Given the description of an element on the screen output the (x, y) to click on. 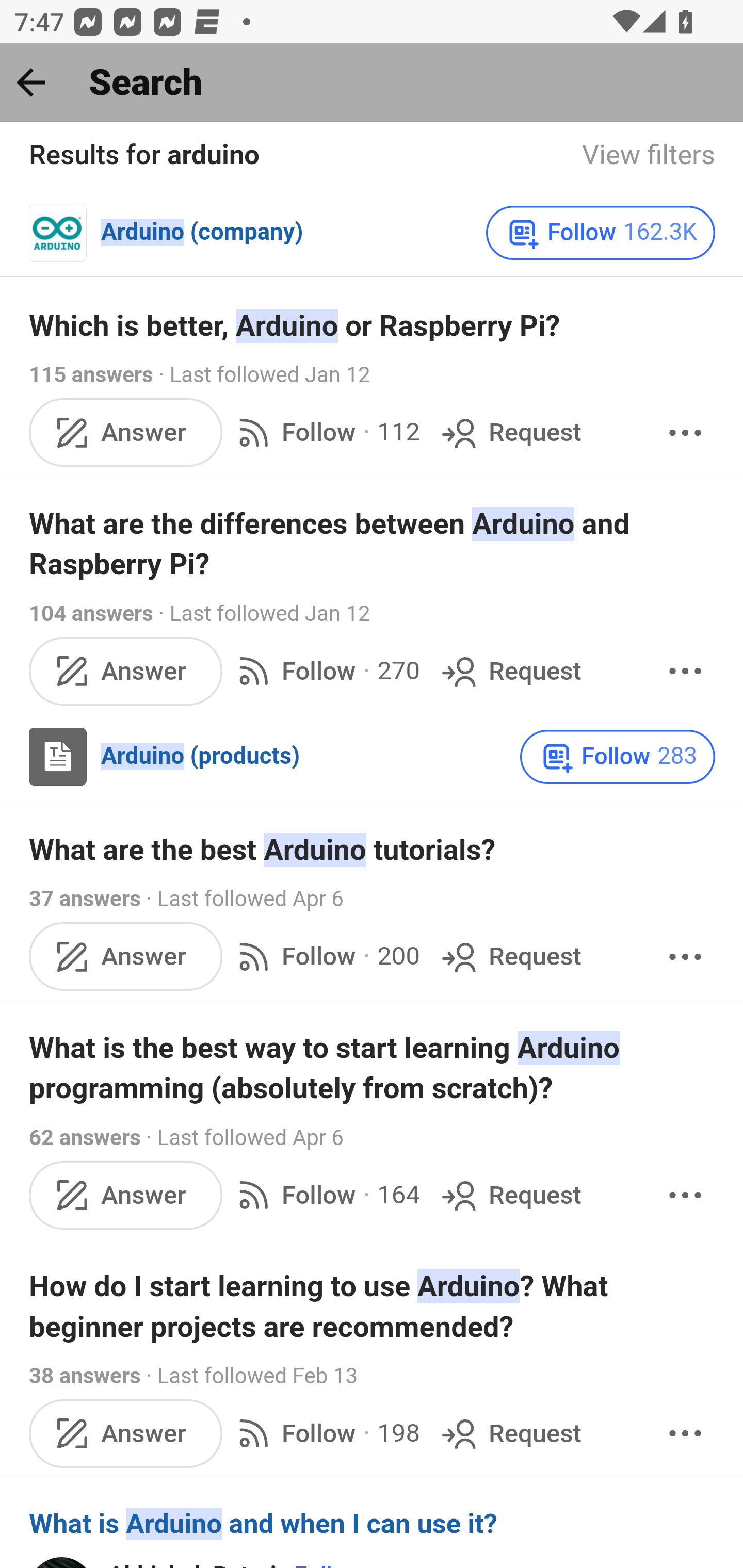
Back Search (371, 82)
Back (30, 82)
View filters (648, 155)
Follow 162.3K (599, 232)
Which is better, Arduino or Raspberry Pi? (372, 325)
115 answers 115  answers (90, 375)
Answer (125, 433)
Follow · 112 (324, 433)
Request (509, 433)
More (684, 433)
104 answers 104  answers (90, 613)
Answer (125, 671)
Follow · 270 (324, 671)
Request (509, 671)
More (684, 671)
Follow 283 (618, 755)
What are the best Arduino tutorials? (372, 849)
37 answers 37  answers (84, 899)
Answer (125, 956)
Follow · 200 (324, 956)
Request (509, 956)
More (684, 956)
62 answers 62  answers (84, 1136)
Answer (125, 1194)
Follow · 164 (324, 1194)
Request (509, 1194)
More (684, 1194)
38 answers 38  answers (84, 1377)
Answer (125, 1433)
Follow · 198 (324, 1433)
Request (509, 1433)
More (684, 1433)
What is Arduino and when I can use it? (372, 1524)
